Given the description of an element on the screen output the (x, y) to click on. 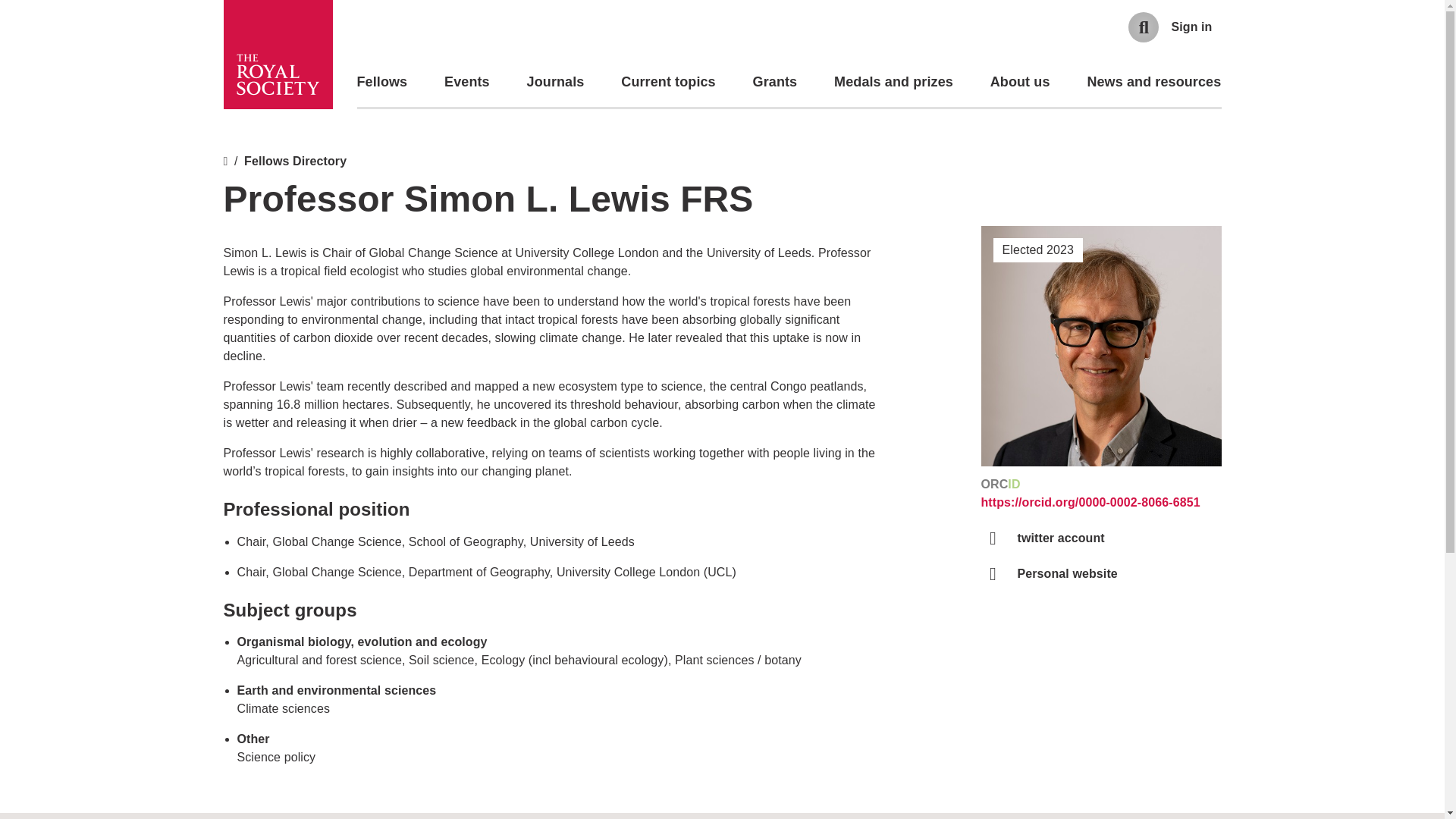
Current topics (667, 81)
Fellows (381, 81)
Journals (556, 81)
